Given the description of an element on the screen output the (x, y) to click on. 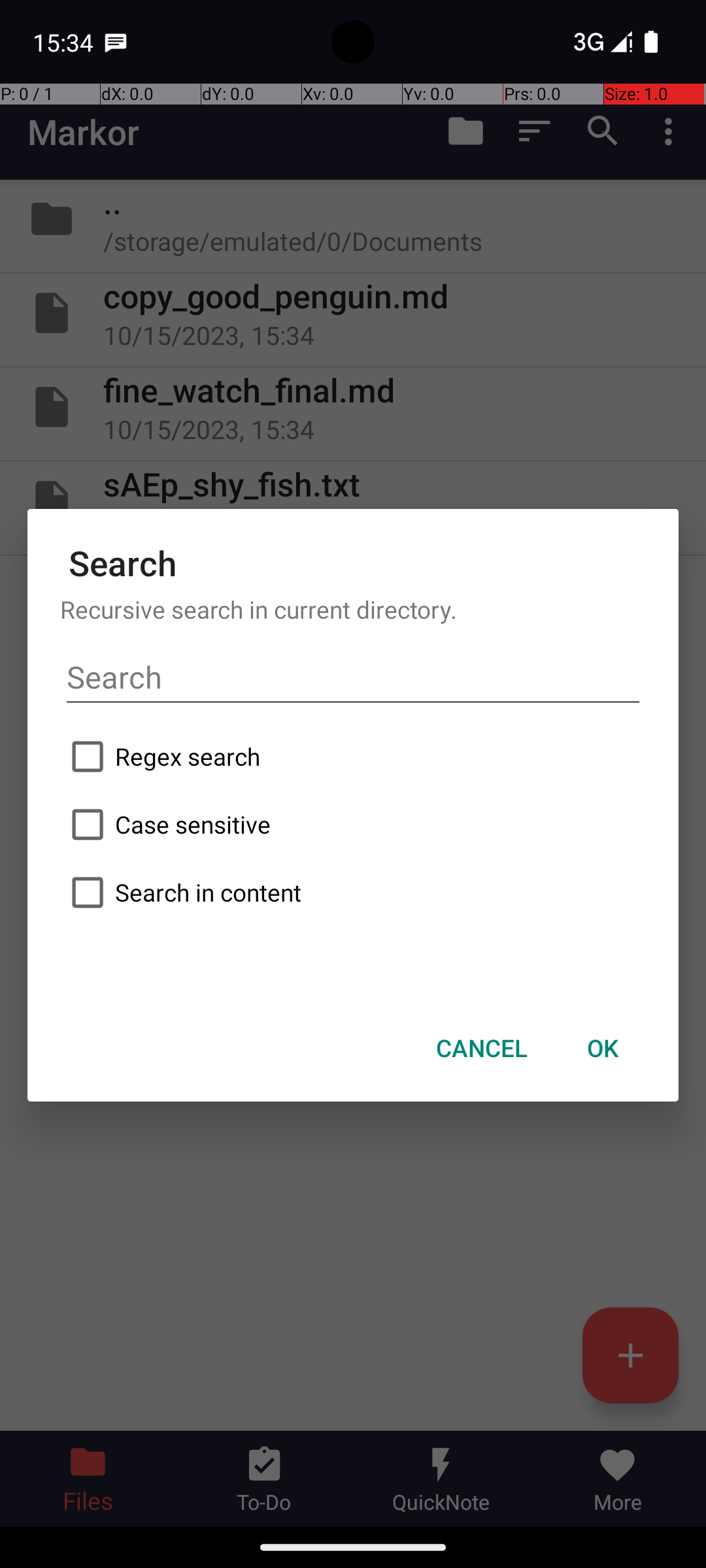
Recursive search in current directory. Element type: android.widget.TextView (352, 608)
Regex search Element type: android.widget.CheckBox (352, 756)
Case sensitive Element type: android.widget.CheckBox (352, 824)
Search in content Element type: android.widget.CheckBox (352, 892)
